Given the description of an element on the screen output the (x, y) to click on. 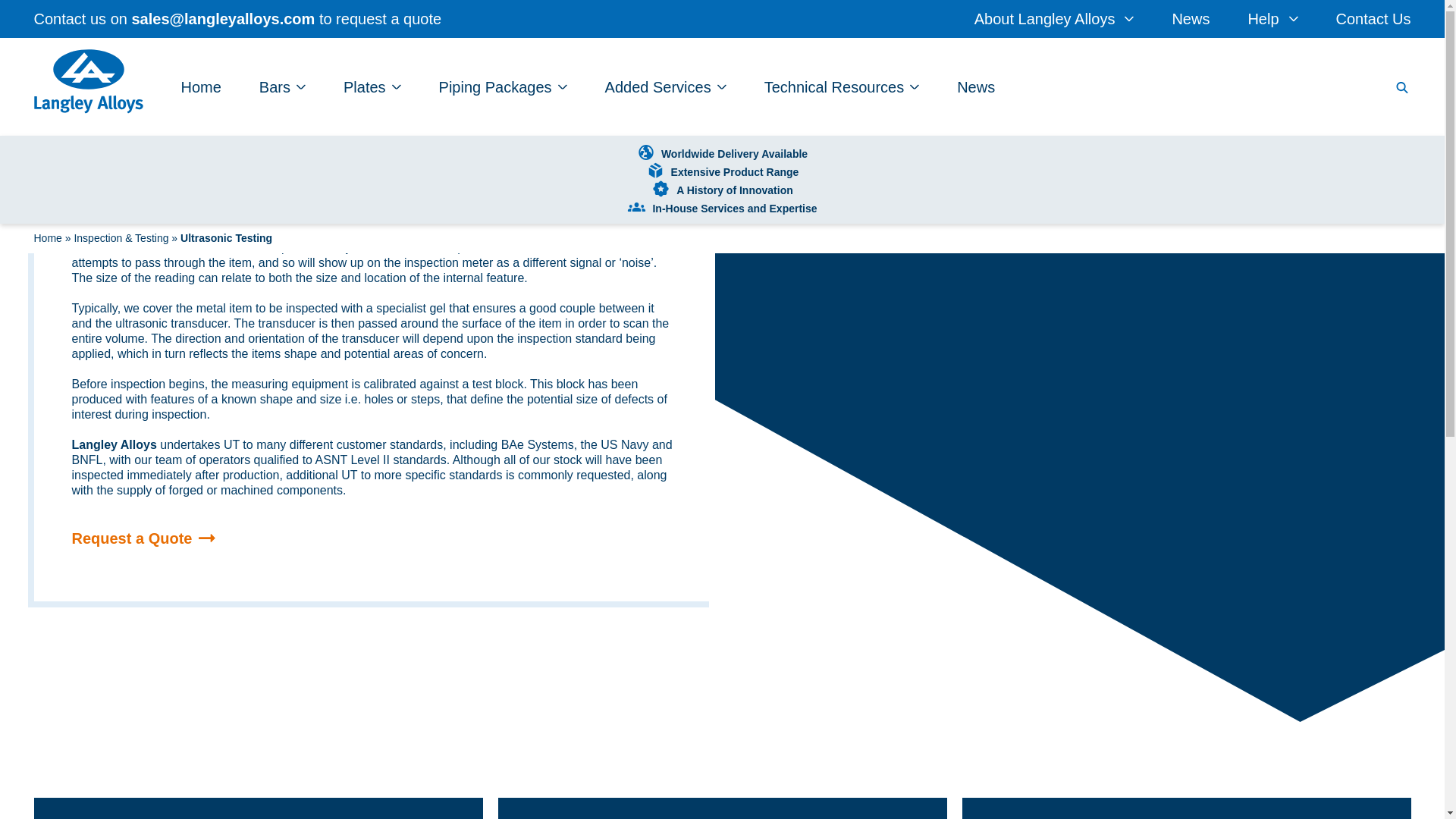
Contact Us (1373, 18)
About Langley Alloys (1054, 18)
News (1190, 18)
Bars (282, 86)
Return to homepage (87, 84)
Help (1272, 18)
Home (200, 86)
